Given the description of an element on the screen output the (x, y) to click on. 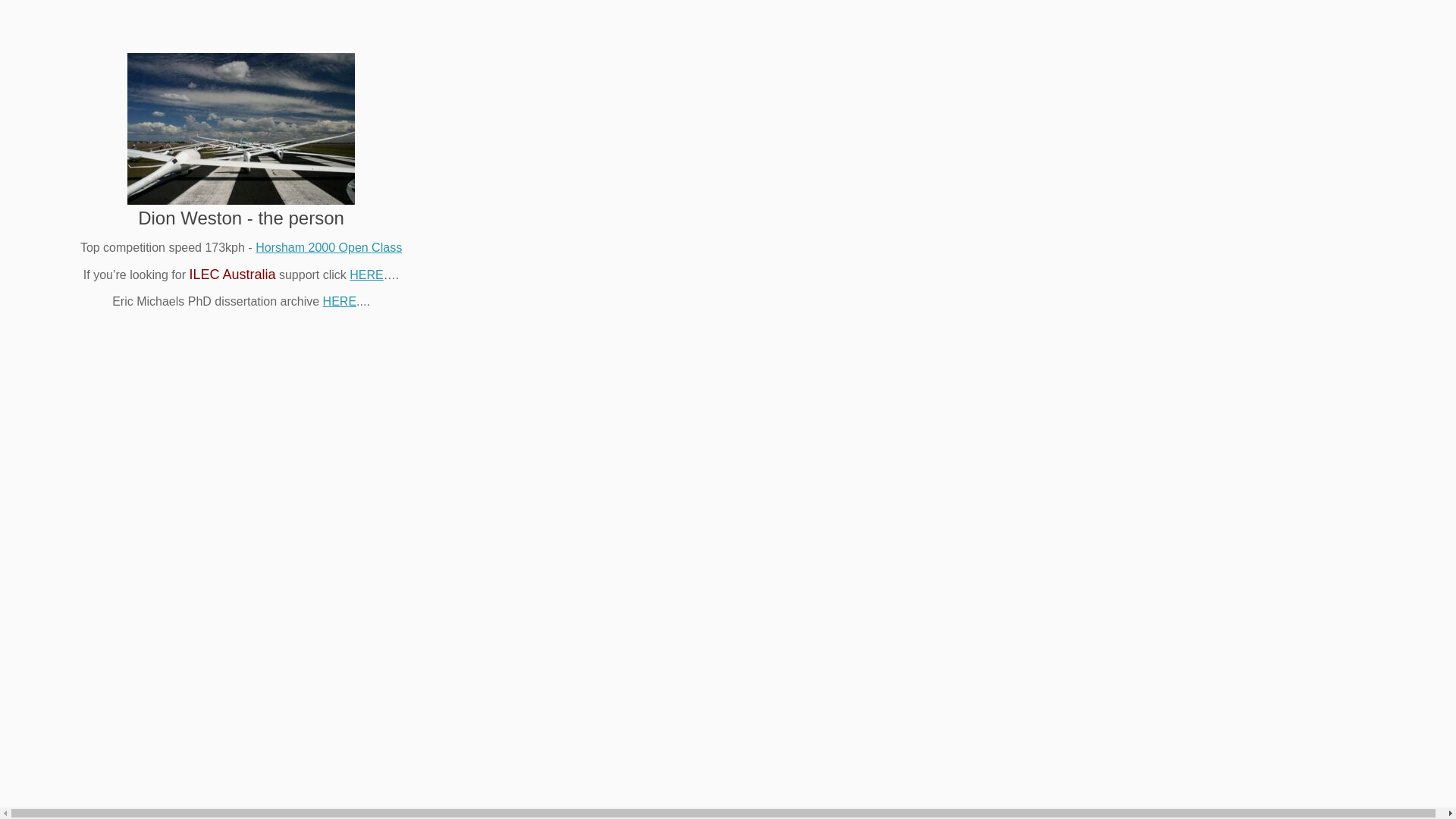
HERE Element type: text (365, 274)
HERE Element type: text (339, 300)
Horsham 2000 Open Class Element type: text (328, 247)
